Given the description of an element on the screen output the (x, y) to click on. 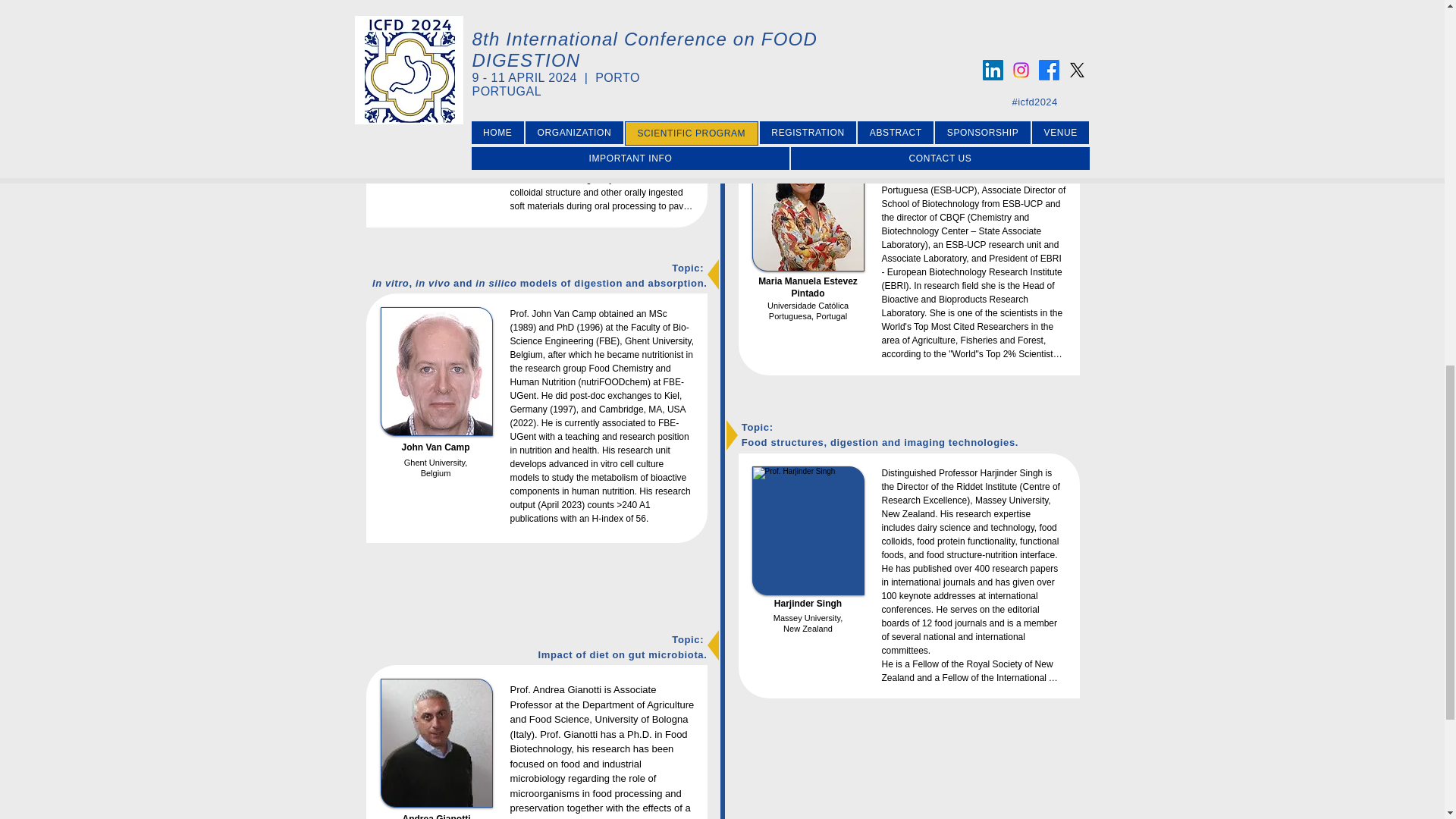
Prof.Anwesha Sarkar (436, 61)
